Given the description of an element on the screen output the (x, y) to click on. 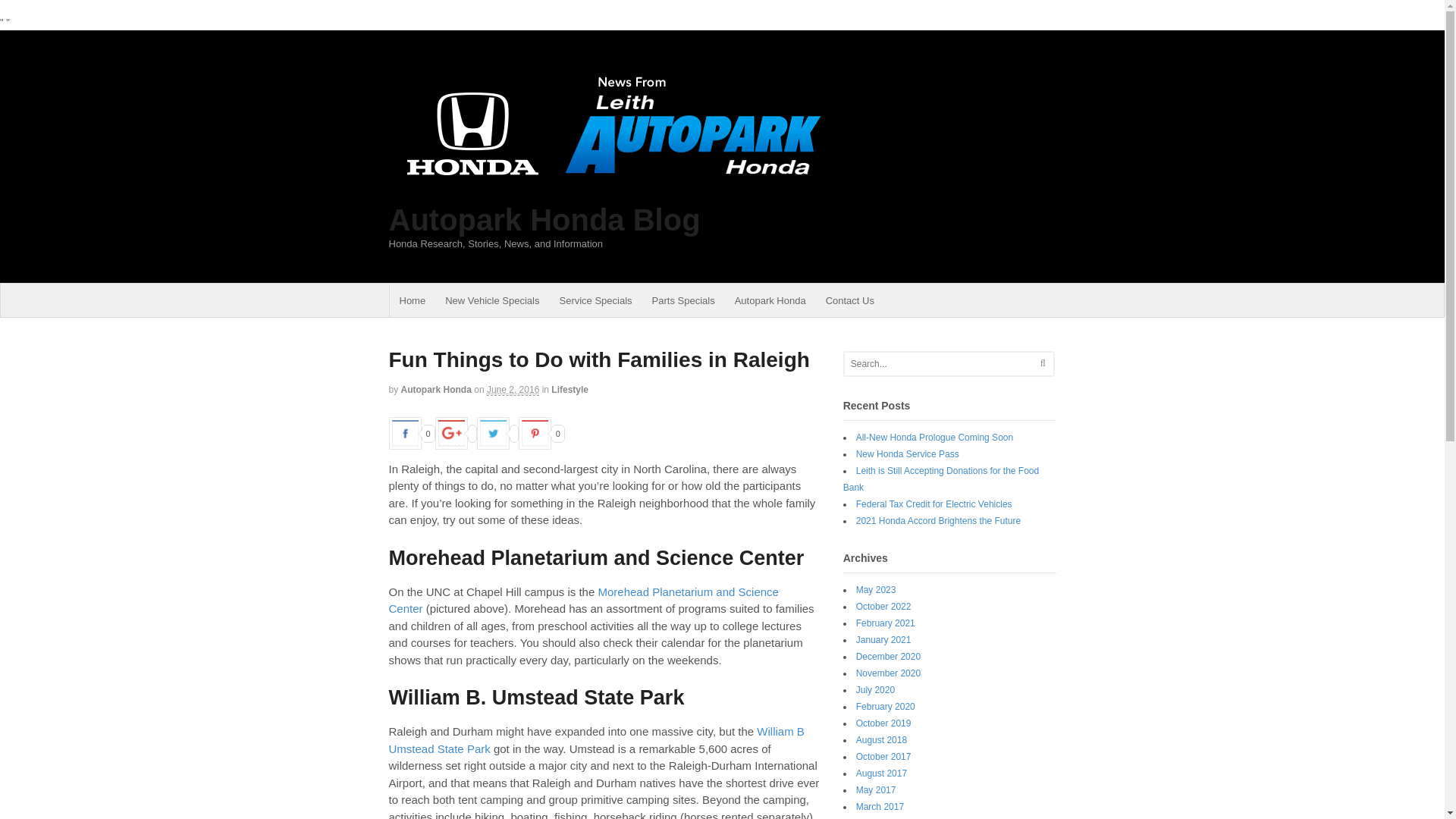
All-New Honda Prologue Coming Soon (934, 437)
November 2020 (888, 673)
July 2020 (875, 689)
facebook (404, 432)
William B Umstead State Park (595, 739)
0 (541, 431)
Honda Research, Stories, News, and Information (608, 196)
google (451, 432)
Autopark Honda (770, 300)
Leith is Still Accepting Donations for the Food Bank (941, 479)
new vehicle specials (491, 300)
0 (410, 431)
service specials (595, 300)
Morehead Planetarium and Science Center (582, 600)
Posts by Autopark Honda (436, 389)
